Given the description of an element on the screen output the (x, y) to click on. 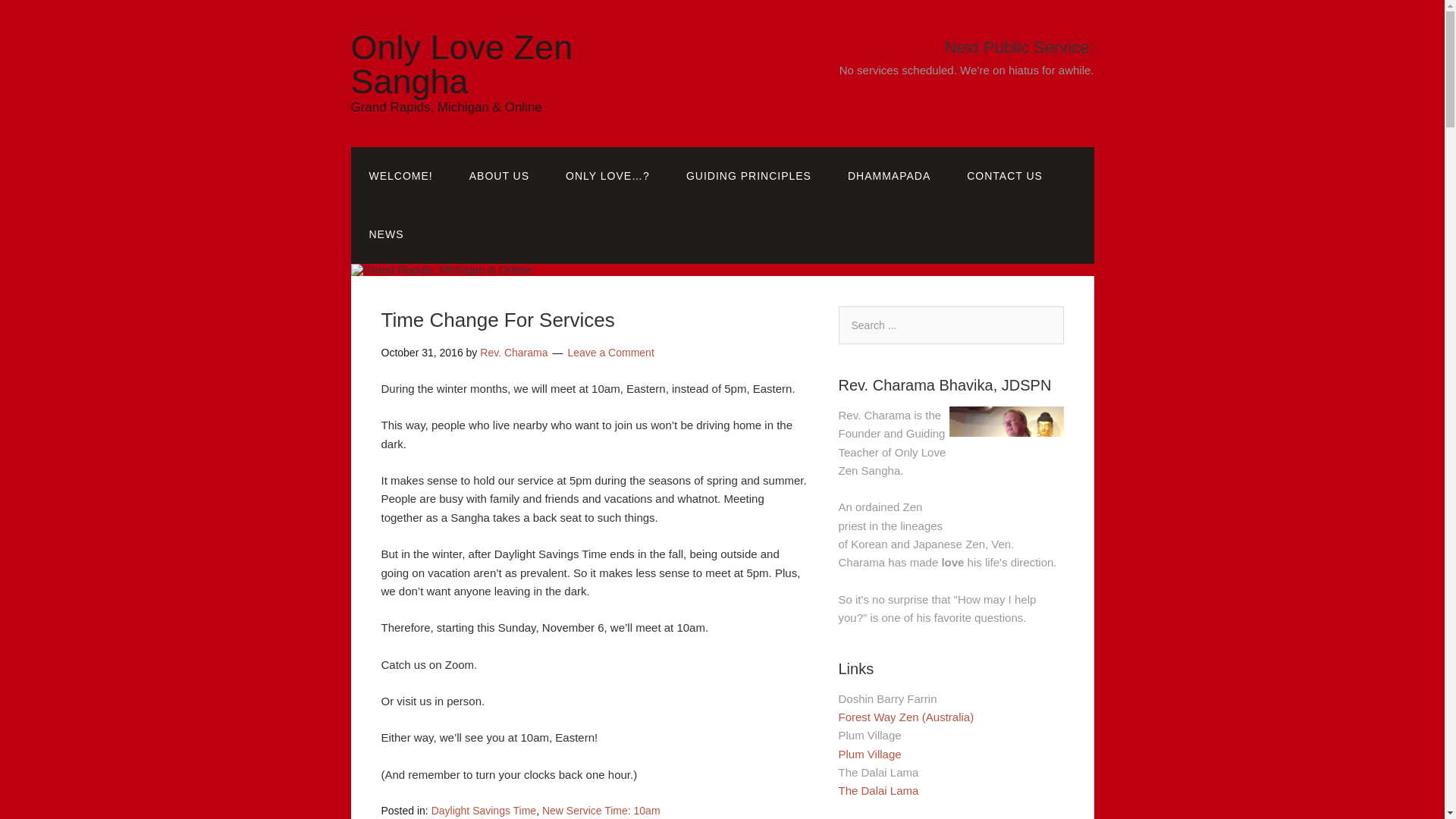
New Service Time: 10am (601, 810)
Rev. Charama (513, 352)
Only Love Zen Sangha (461, 63)
GUIDING PRINCIPLES (748, 176)
Search for: (951, 324)
Posts by Rev. Charama (513, 352)
CONTACT US (1005, 176)
Monday, October 31, 2016, 9:28 am (421, 352)
Daylight Savings Time (483, 810)
ABOUT US (499, 176)
Only Love Zen Sangha (461, 63)
Leave a Comment (610, 352)
